Given the description of an element on the screen output the (x, y) to click on. 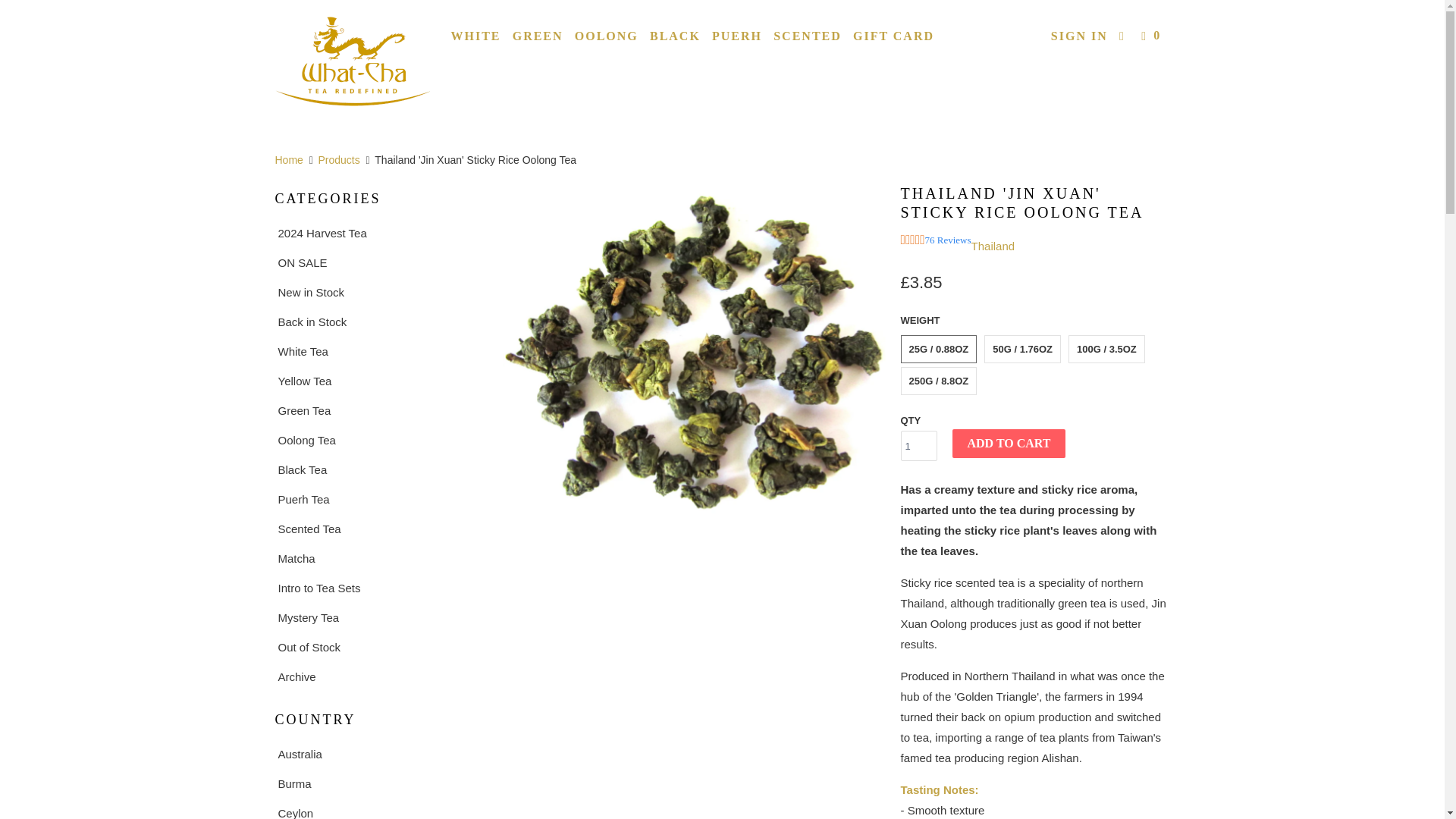
What-Cha (288, 159)
Black Tea (373, 469)
ON SALE (373, 262)
Matcha (373, 557)
GIFT CARD (893, 35)
WHITE (474, 35)
White Tea (373, 351)
2024 Harvest Tea (373, 232)
New in Stock (373, 291)
Yellow Tea (373, 381)
